Given the description of an element on the screen output the (x, y) to click on. 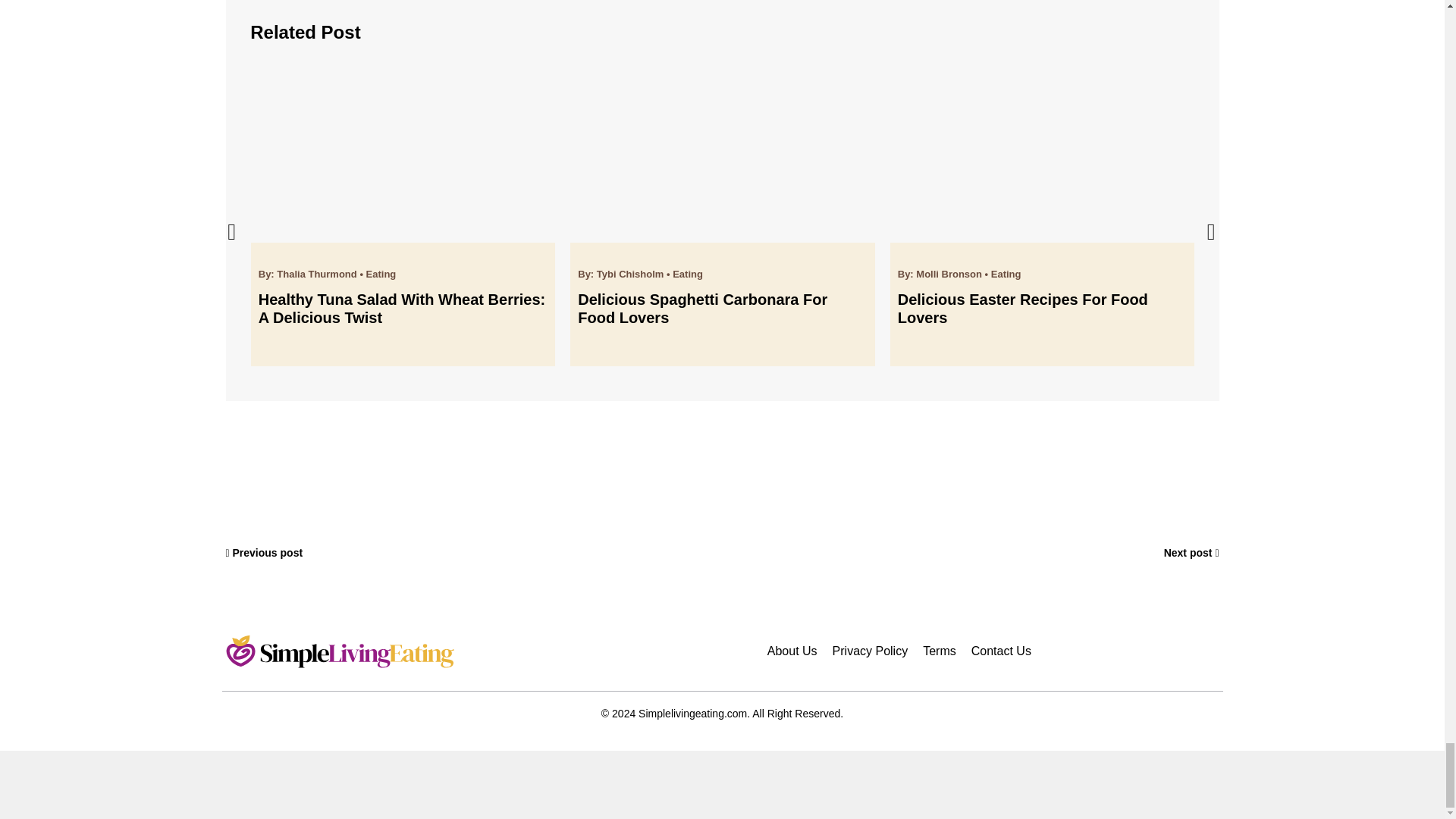
Simplelivingeating (339, 651)
